Given the description of an element on the screen output the (x, y) to click on. 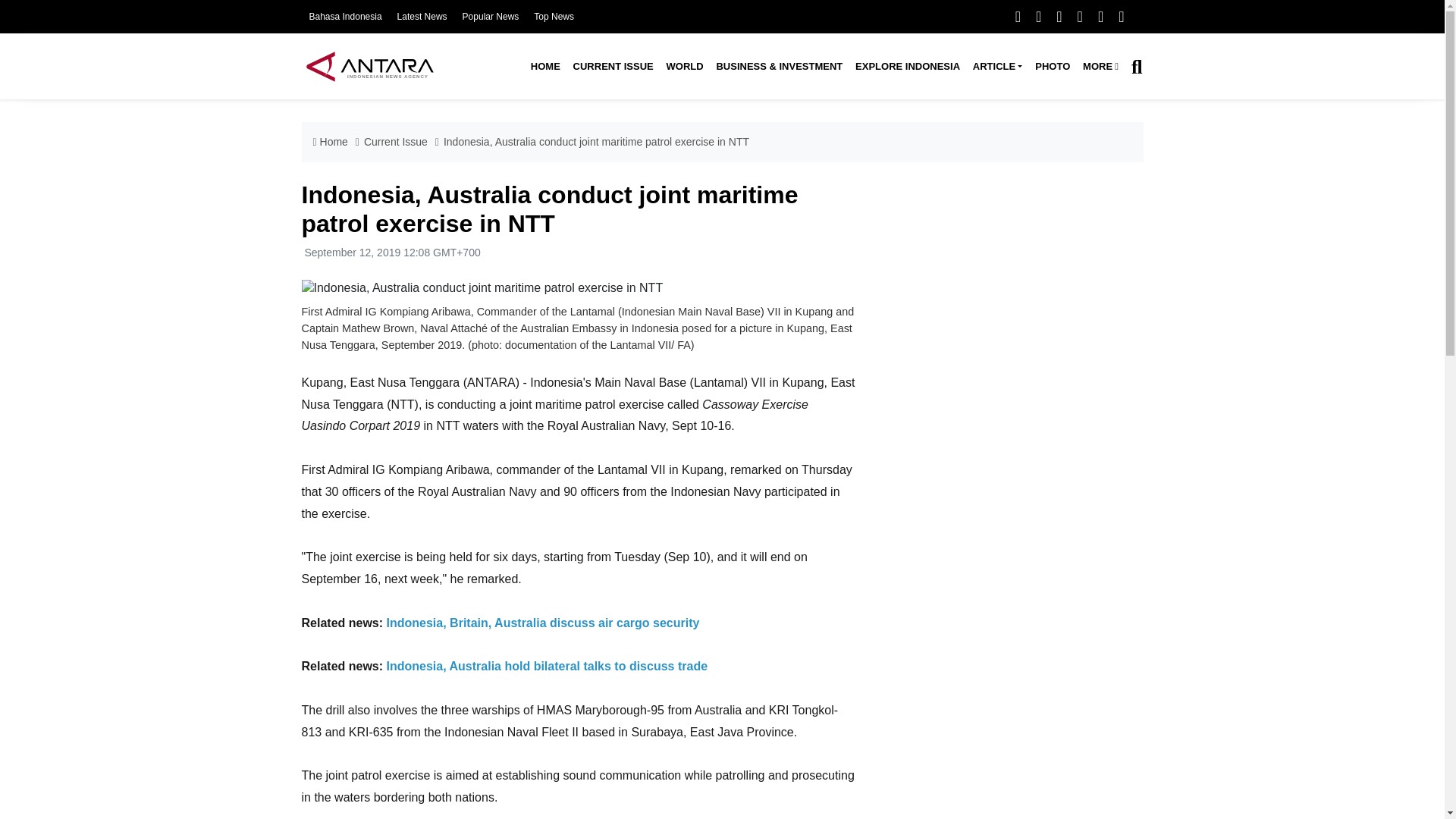
ANTARA News (369, 66)
Latest News (421, 16)
Popular News (491, 16)
Article (996, 66)
Latest News (421, 16)
Bahasa Indonesia (344, 16)
Facebook ANTARA (1017, 15)
EXPLORE INDONESIA (907, 66)
CURRENT ISSUE (612, 66)
Popular News (491, 16)
HOME (545, 66)
World (684, 66)
Photo (1053, 66)
Top News (553, 16)
